Given the description of an element on the screen output the (x, y) to click on. 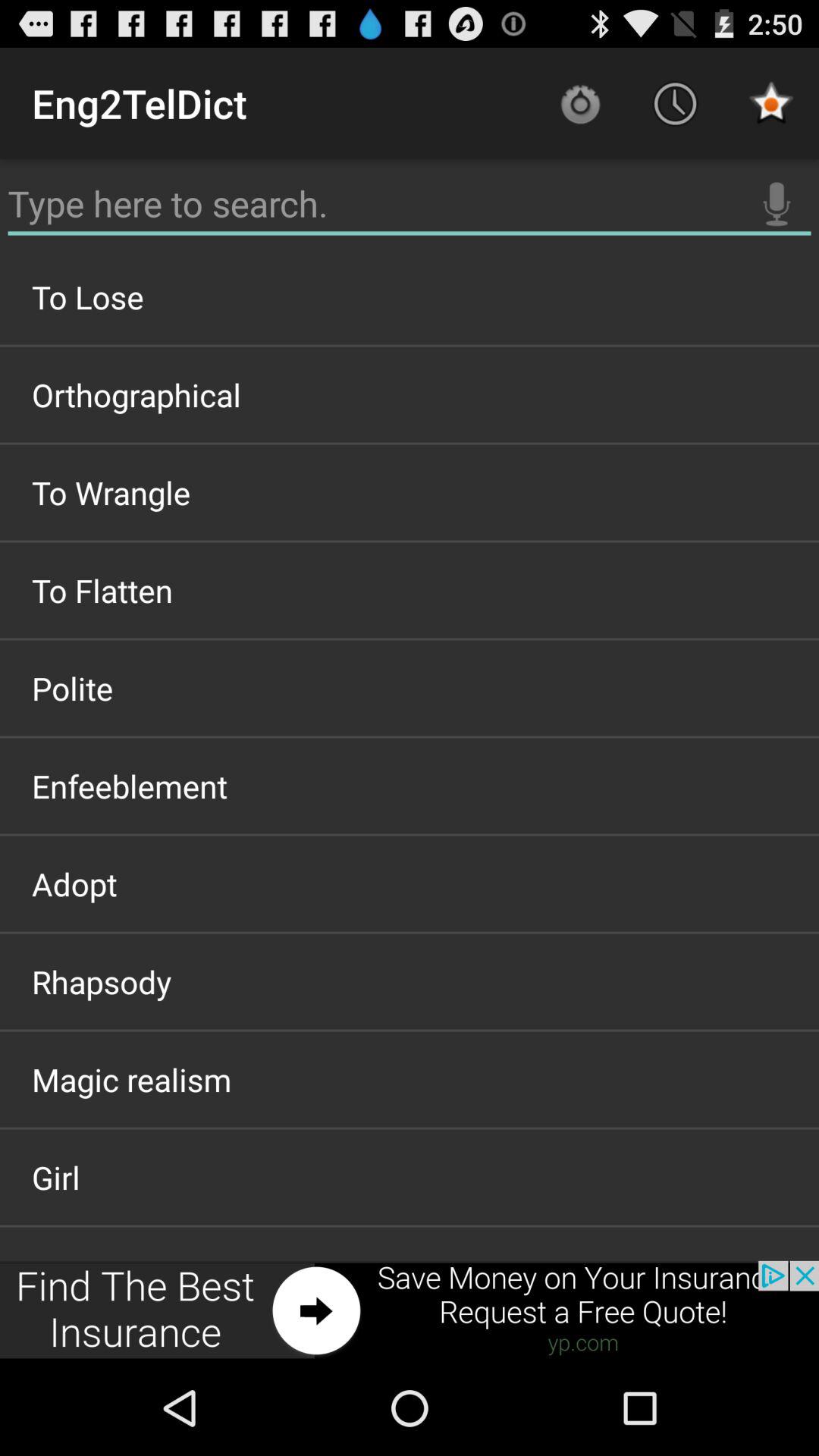
launch the to lose (409, 296)
